Given the description of an element on the screen output the (x, y) to click on. 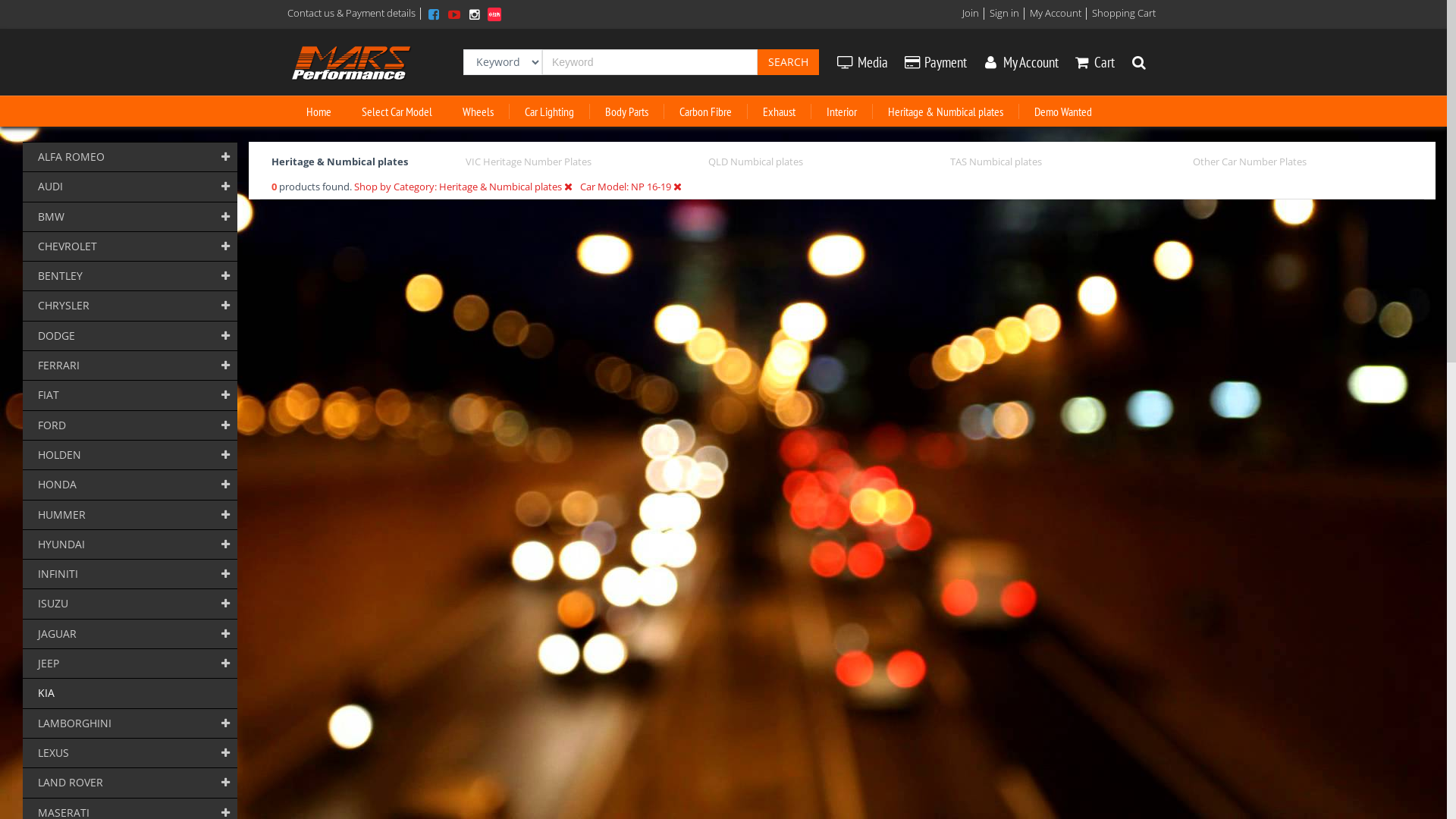
Select Car Model Element type: text (396, 111)
Home Element type: text (318, 111)
LAND ROVER Element type: text (129, 782)
Shopping Cart Element type: text (1123, 12)
KIA Element type: text (129, 692)
Body Parts Element type: text (626, 111)
HYUNDAI Element type: text (129, 544)
Join Element type: text (970, 12)
HONDA Element type: text (129, 484)
Wheels Element type: text (478, 111)
My Account Element type: text (1020, 61)
ISUZU Element type: text (129, 603)
Demo Wanted Element type: text (1063, 111)
CHRYSLER Element type: text (129, 305)
BENTLEY Element type: text (129, 275)
JEEP Element type: text (129, 663)
DODGE Element type: text (129, 335)
LAMBORGHINI Element type: text (129, 723)
Instagram Element type: hover (476, 12)
Car Model: NP 16-19 Element type: text (630, 185)
JAGUAR Element type: text (129, 633)
LEXUS Element type: text (129, 752)
Contact us & Payment details Element type: text (351, 12)
Facebook Element type: hover (435, 12)
Sign in Element type: text (1004, 12)
Cart Element type: text (1094, 61)
Youtube Element type: hover (455, 12)
FORD Element type: text (129, 425)
Search Element type: text (788, 62)
HUMMER Element type: text (129, 514)
Exhaust Element type: text (779, 111)
Payment Element type: text (934, 61)
AUDI Element type: text (129, 186)
FIAT Element type: text (129, 394)
BMW Element type: text (129, 216)
Car Lighting Element type: text (549, 111)
CHEVROLET Element type: text (129, 246)
Media Element type: text (861, 61)
Interior Element type: text (841, 111)
ALFA ROMEO Element type: text (129, 156)
My Account Element type: text (1055, 12)
INFINITI Element type: text (129, 573)
HOLDEN Element type: text (129, 454)
FERRARI Element type: text (129, 365)
Shop by Category: Heritage & Numbical plates Element type: text (463, 185)
Heritage & Numbical plates Element type: text (945, 111)
Carbon Fibre Element type: text (705, 111)
